Given the description of an element on the screen output the (x, y) to click on. 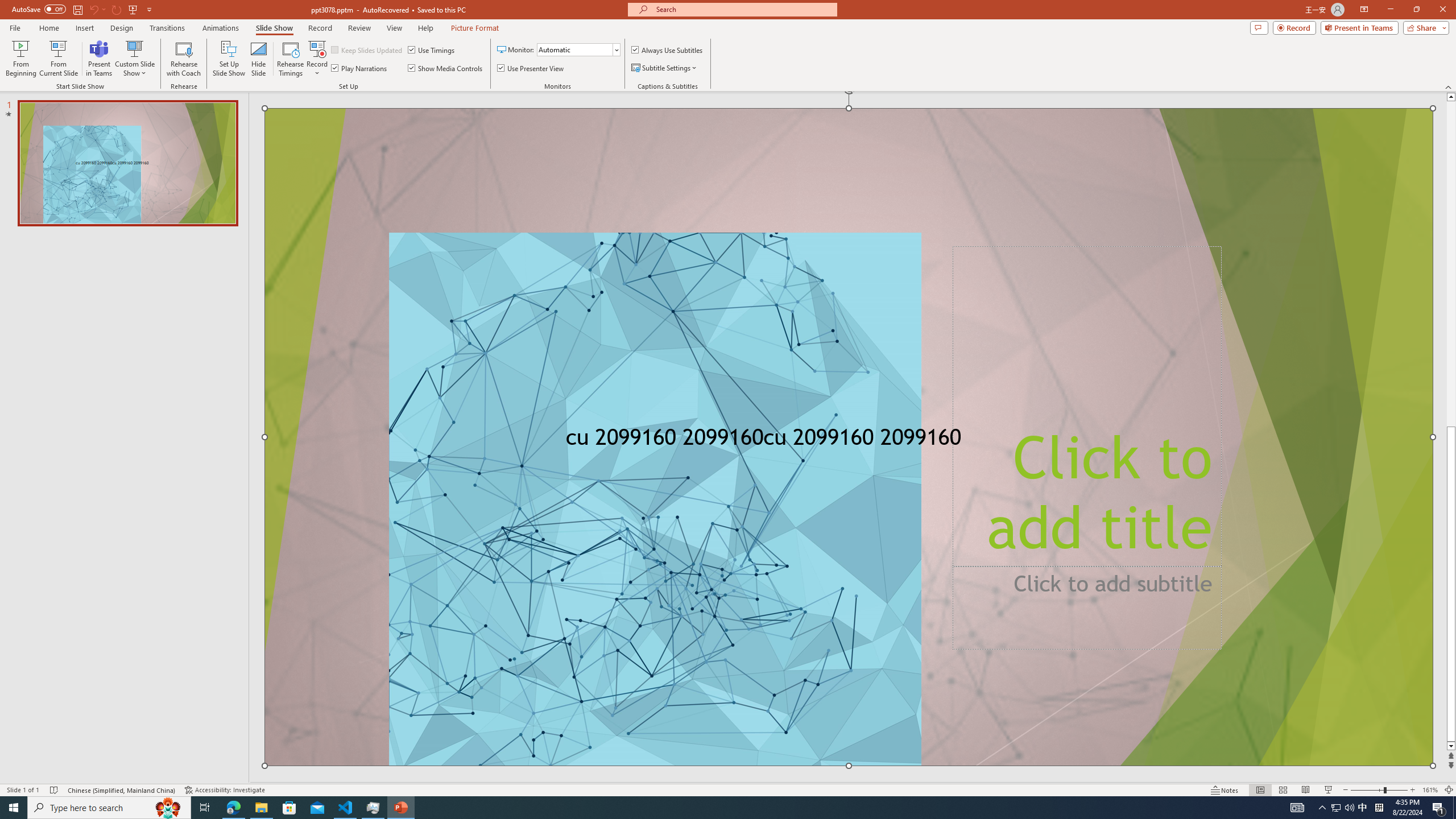
Keep Slides Updated (367, 49)
Set Up Slide Show... (229, 58)
Rehearse Timings (290, 58)
Zoom 161% (1430, 790)
Rehearse with Coach (183, 58)
Use Timings (432, 49)
